Given the description of an element on the screen output the (x, y) to click on. 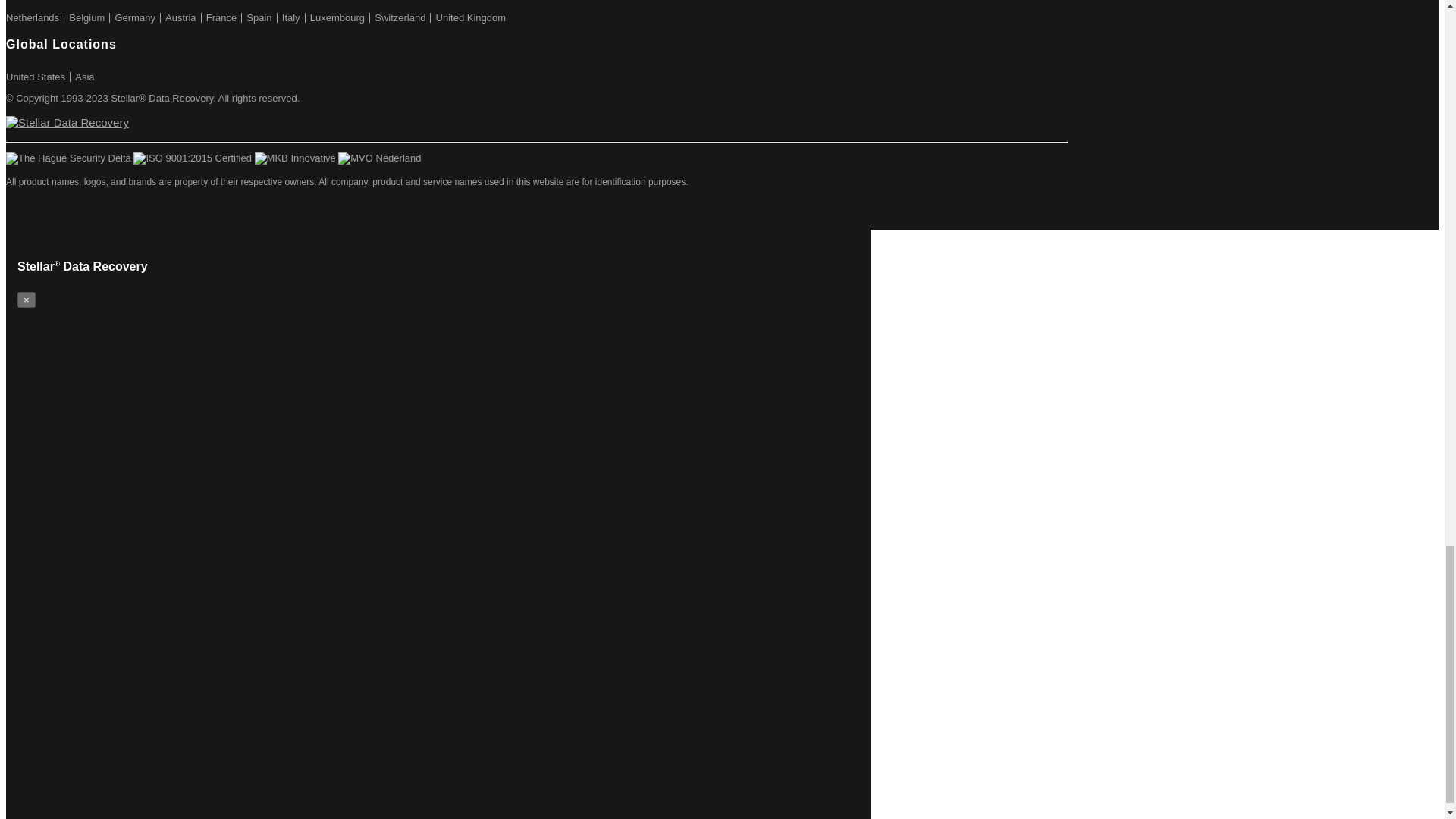
Stellar Data Recovery (67, 122)
